Given the description of an element on the screen output the (x, y) to click on. 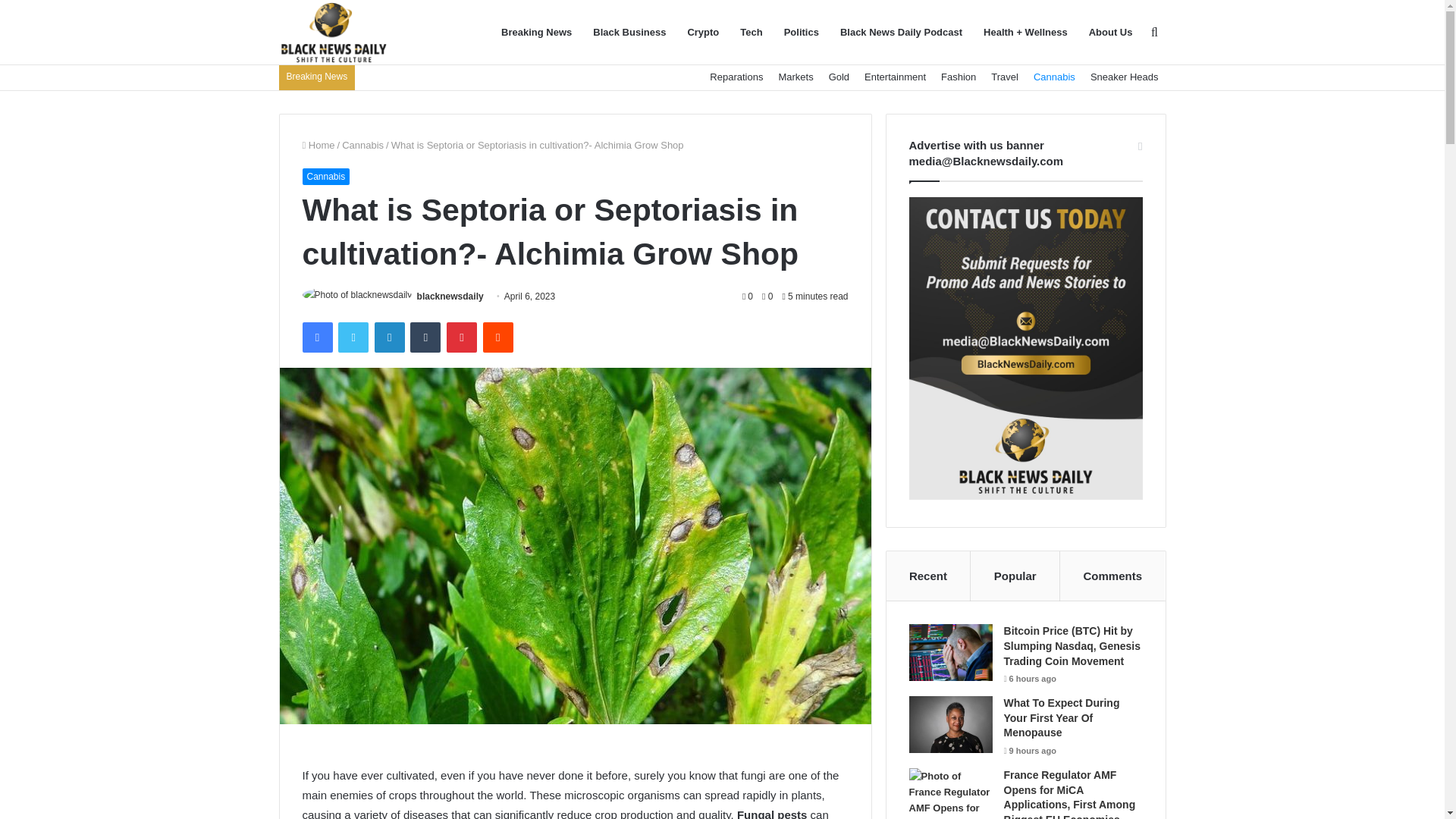
Sneaker Heads (1124, 76)
Tumblr (425, 337)
Reparations (735, 76)
Cannabis (1054, 76)
Black News Daily Podcast (900, 32)
Cannabis (325, 176)
Breaking News (536, 32)
Gold (839, 76)
LinkedIn (389, 337)
Twitter (352, 337)
Markets (795, 76)
About Us (1110, 32)
Pinterest (461, 337)
LinkedIn (389, 337)
Cannabis (363, 144)
